Given the description of an element on the screen output the (x, y) to click on. 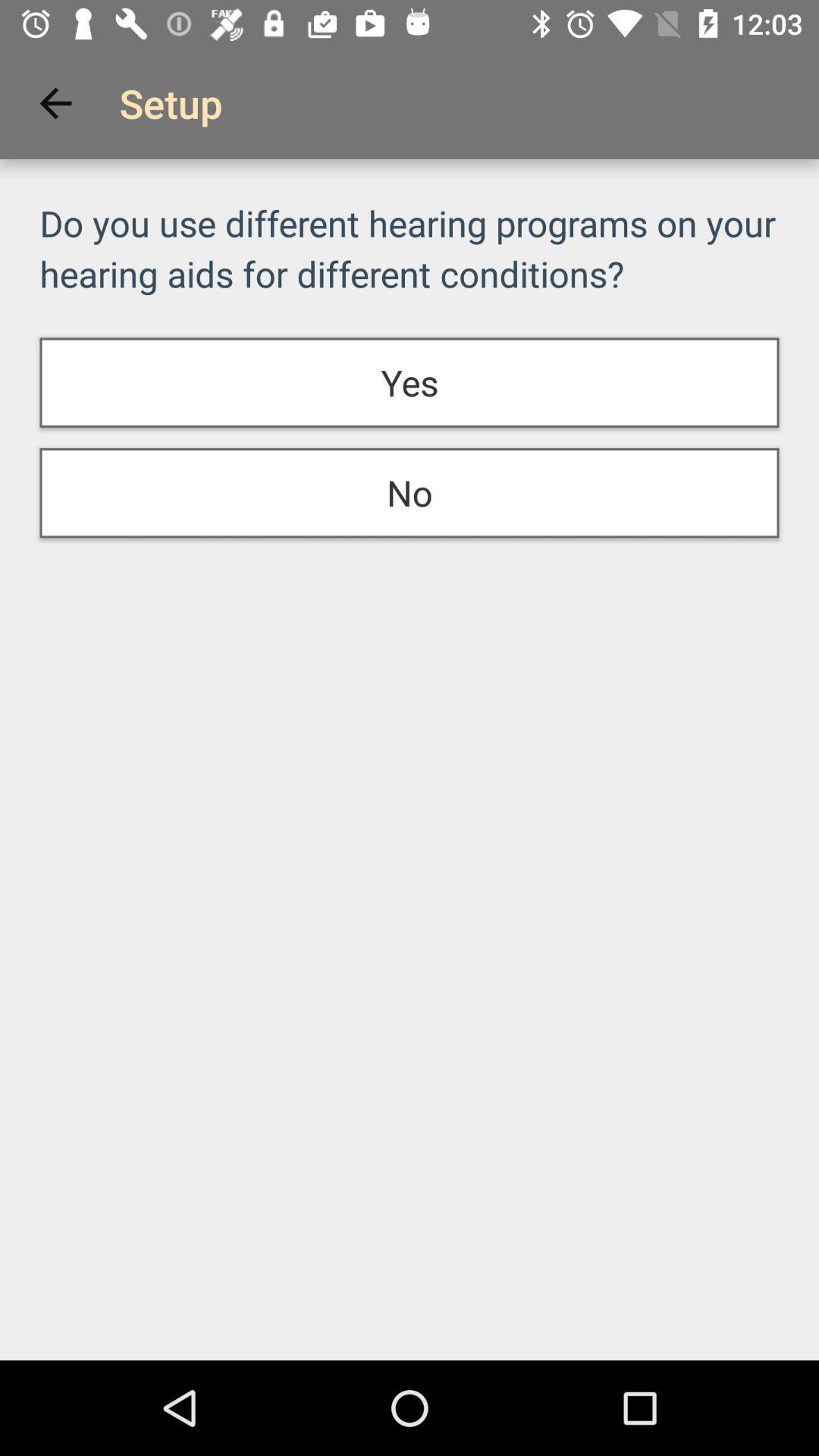
turn on icon above no icon (409, 382)
